Given the description of an element on the screen output the (x, y) to click on. 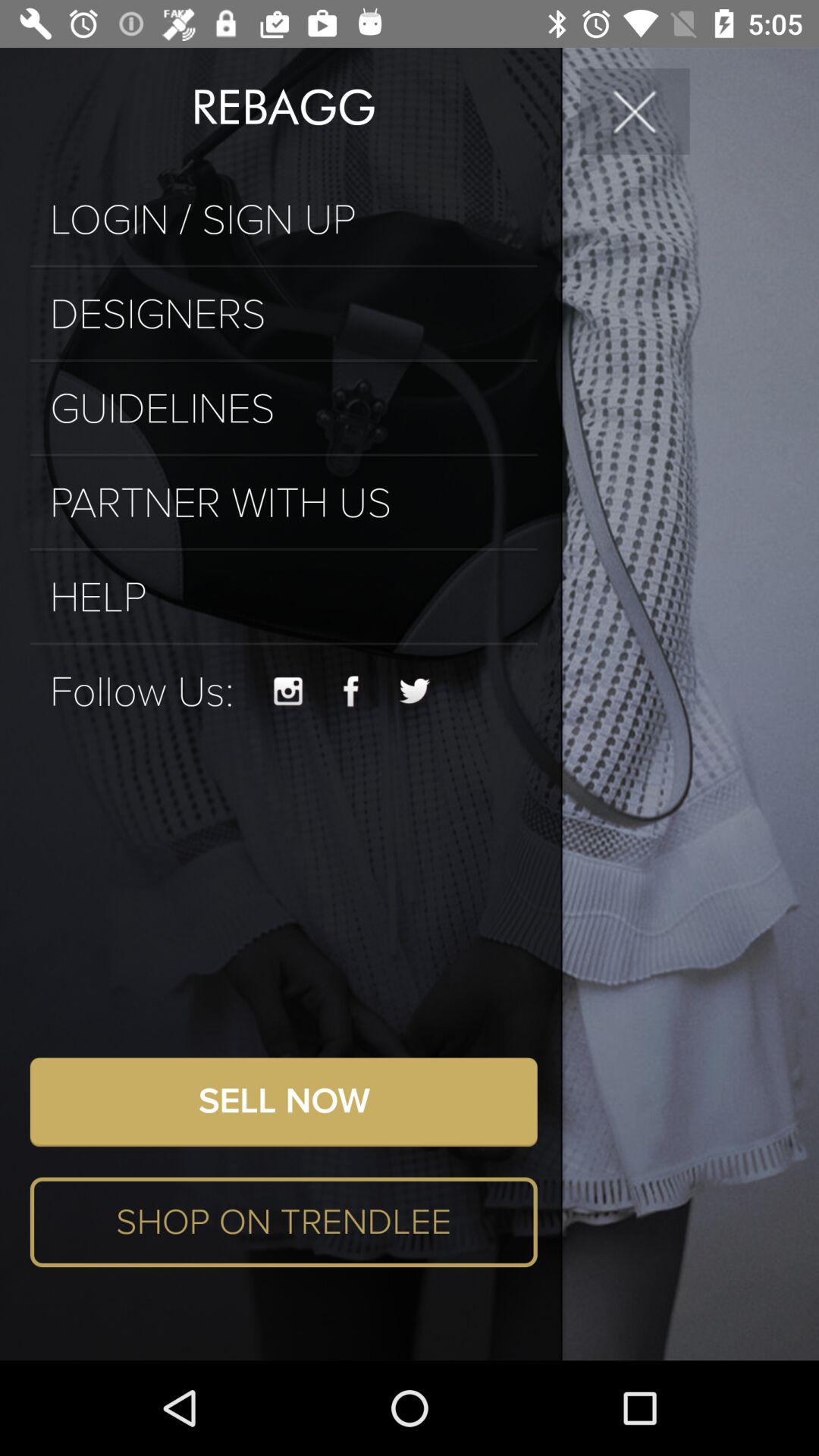
press the icon above guidelines (283, 360)
